Given the description of an element on the screen output the (x, y) to click on. 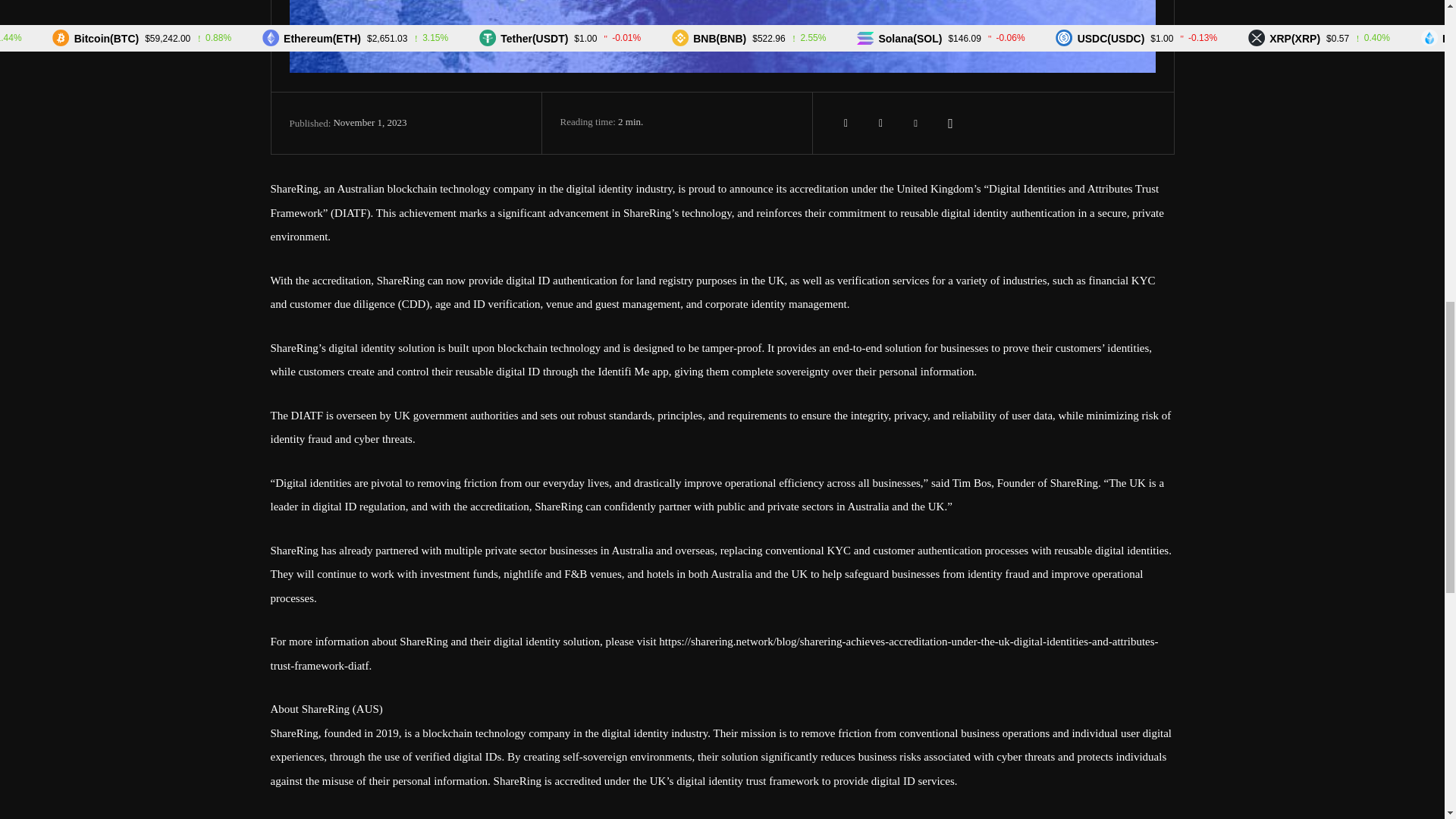
Pinterest (916, 122)
WhatsApp (951, 122)
Facebook (846, 122)
Twitter (881, 122)
